Given the description of an element on the screen output the (x, y) to click on. 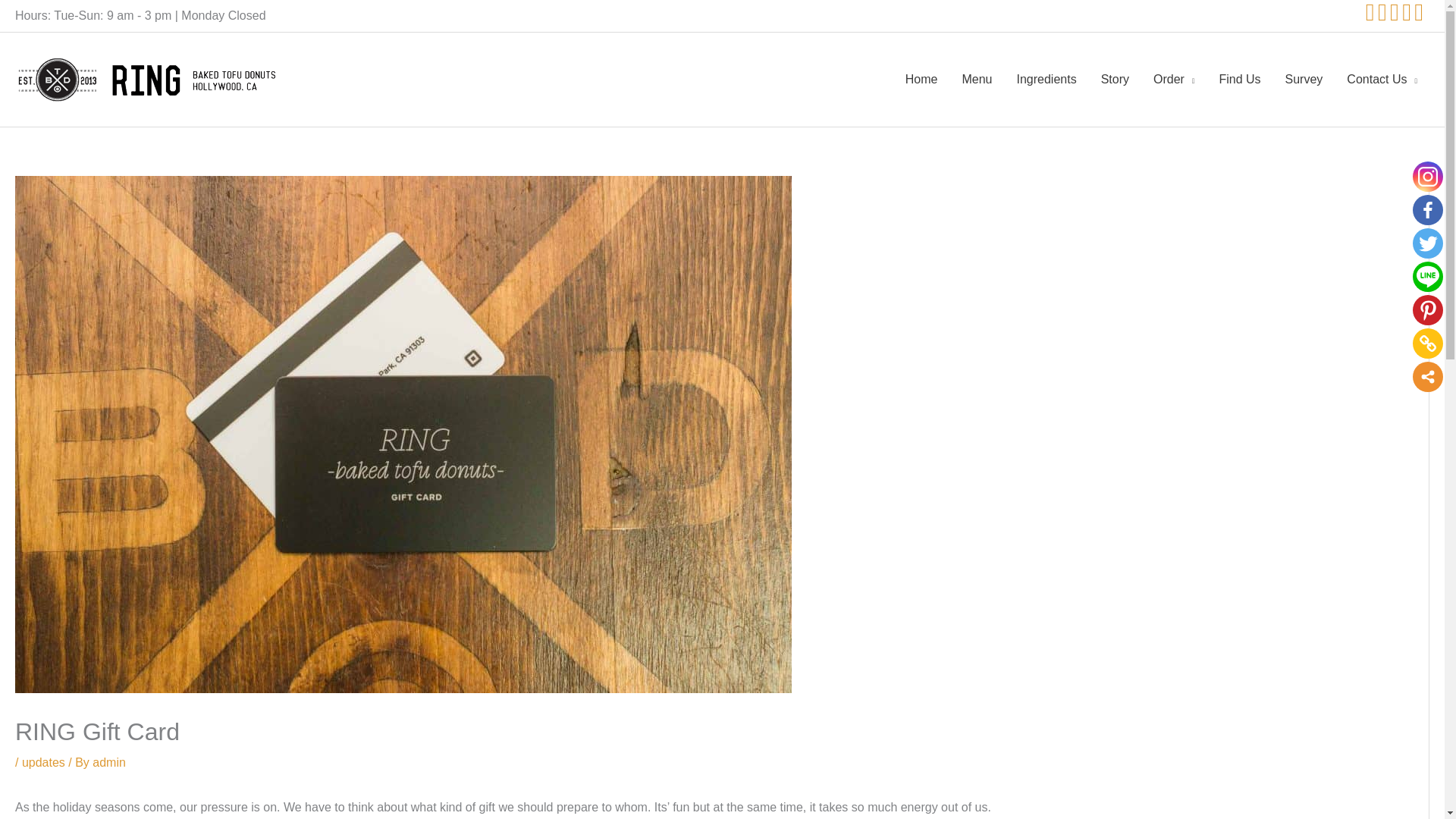
Ingredients (1045, 79)
Copy Link (1427, 343)
More (1427, 376)
Line (1427, 276)
Facebook (1427, 209)
Survey (1303, 79)
Twitter (1427, 243)
Menu (976, 79)
Pinterest (1427, 309)
Find Us (1239, 79)
